Given the description of an element on the screen output the (x, y) to click on. 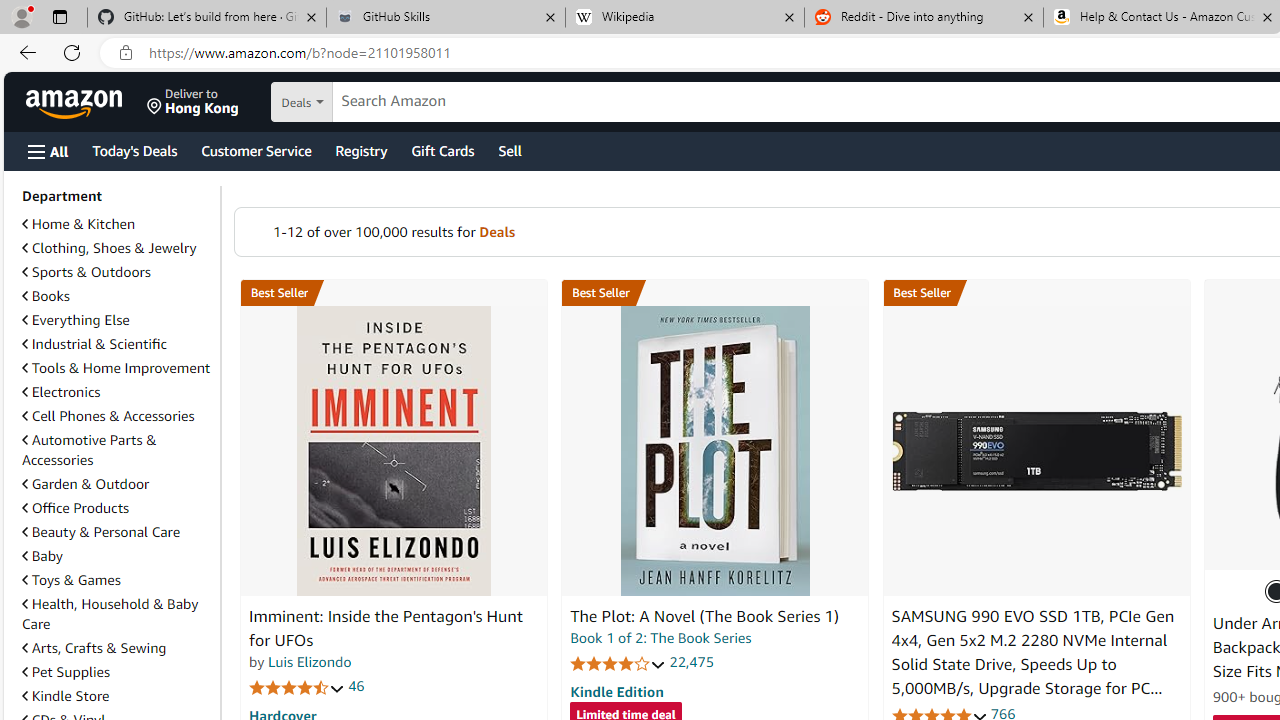
46 (356, 686)
Sports & Outdoors (117, 272)
Pet Supplies (65, 672)
Industrial & Scientific (117, 344)
Baby (41, 556)
Clothing, Shoes & Jewelry (117, 247)
Books (45, 296)
Tools & Home Improvement (116, 368)
Imminent: Inside the Pentagon's Hunt for UFOs (386, 628)
Deliver to Hong Kong (193, 101)
Office Products (75, 507)
Wikipedia (684, 17)
Office Products (117, 507)
Cell Phones & Accessories (107, 415)
Cell Phones & Accessories (117, 416)
